Given the description of an element on the screen output the (x, y) to click on. 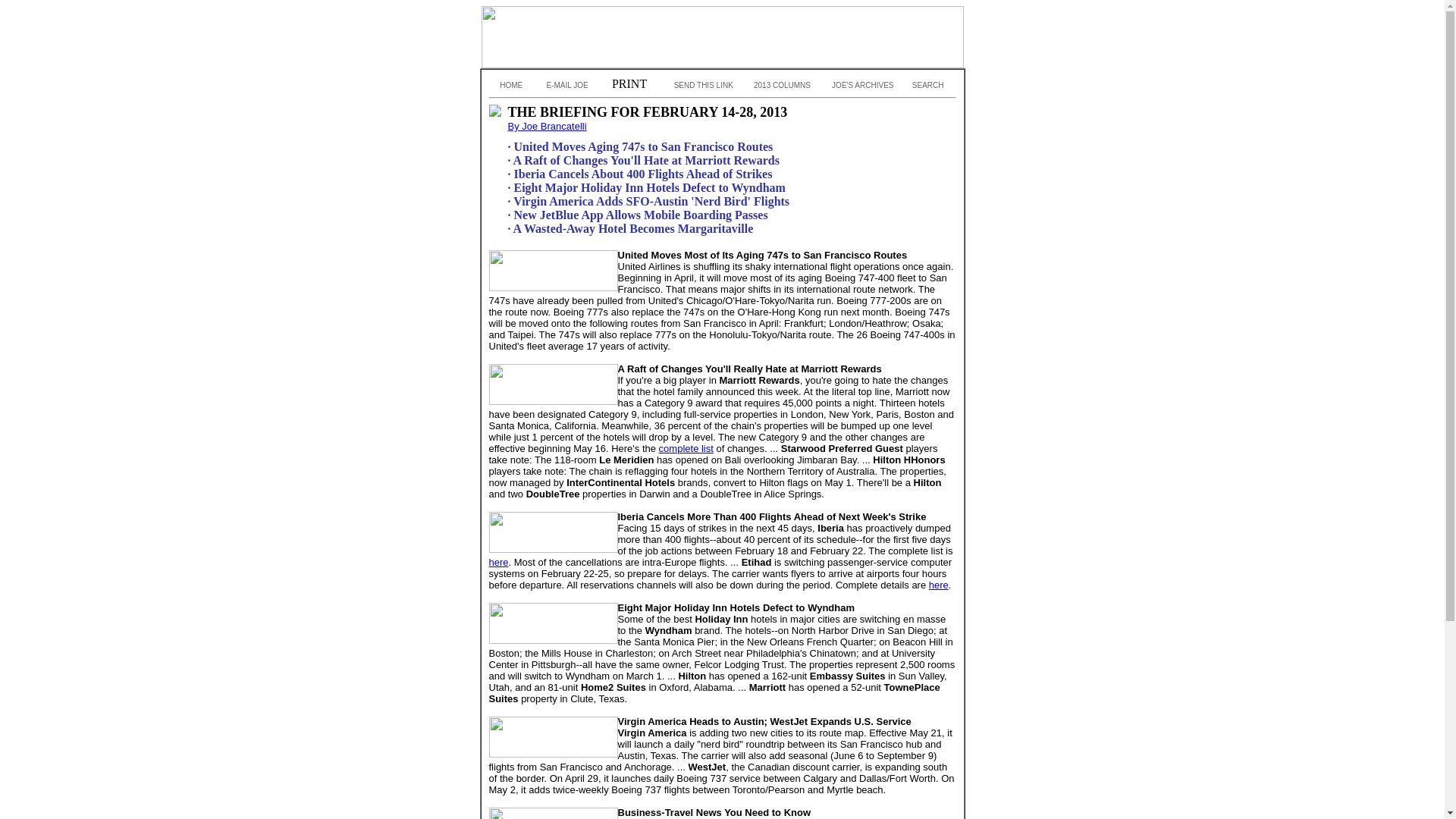
By Joe Brancatelli (547, 125)
SEARCH (922, 85)
E-MAIL JOE    (563, 85)
complete list (686, 448)
HOME    (507, 85)
PRINT    (626, 83)
JOE'S ARCHIVES   (858, 85)
SEND THIS LINK    (699, 85)
2013 COLUMNS    (779, 85)
here (938, 584)
here (497, 562)
